Given the description of an element on the screen output the (x, y) to click on. 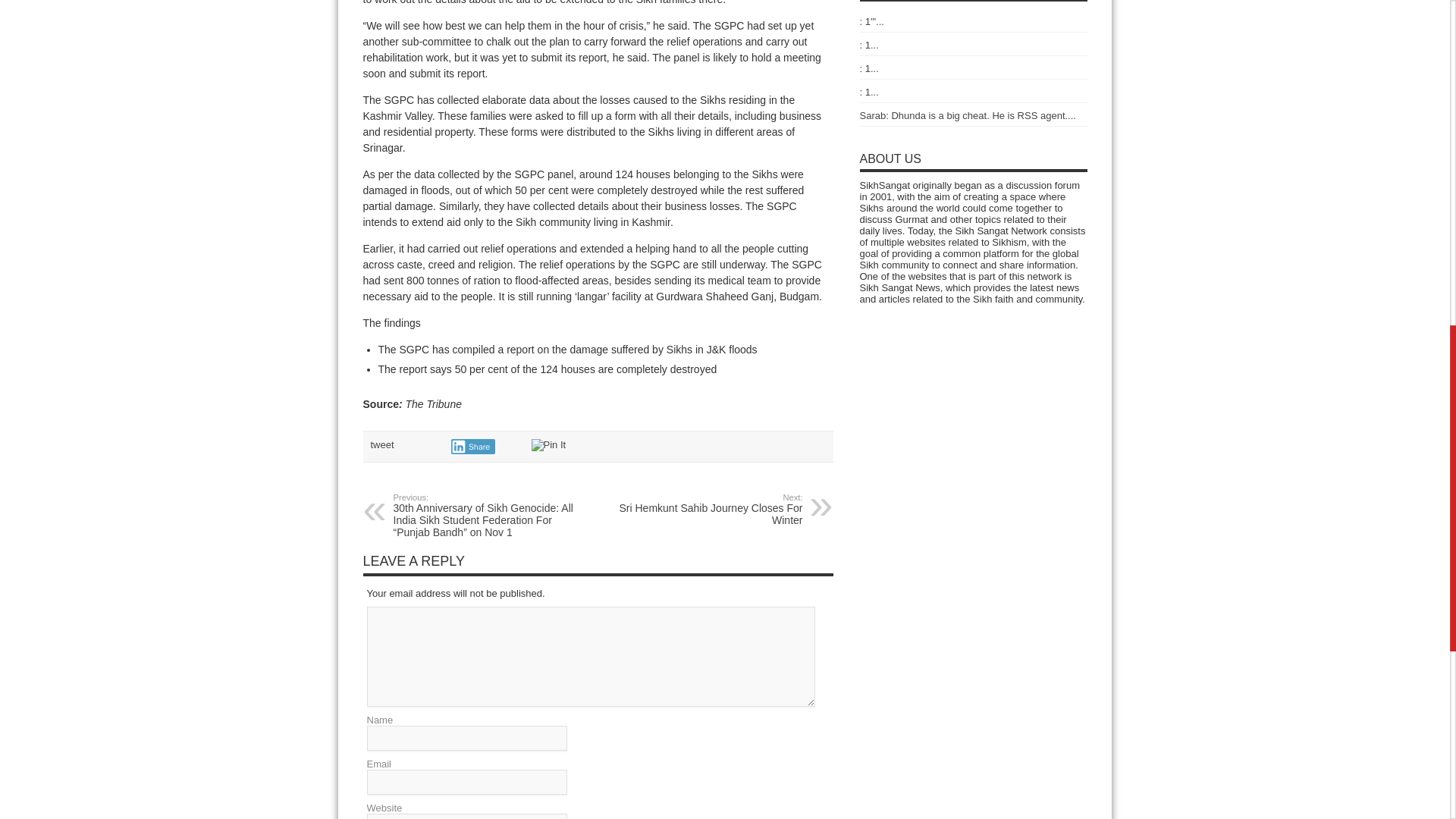
Scroll To Top (1427, 60)
